Given the description of an element on the screen output the (x, y) to click on. 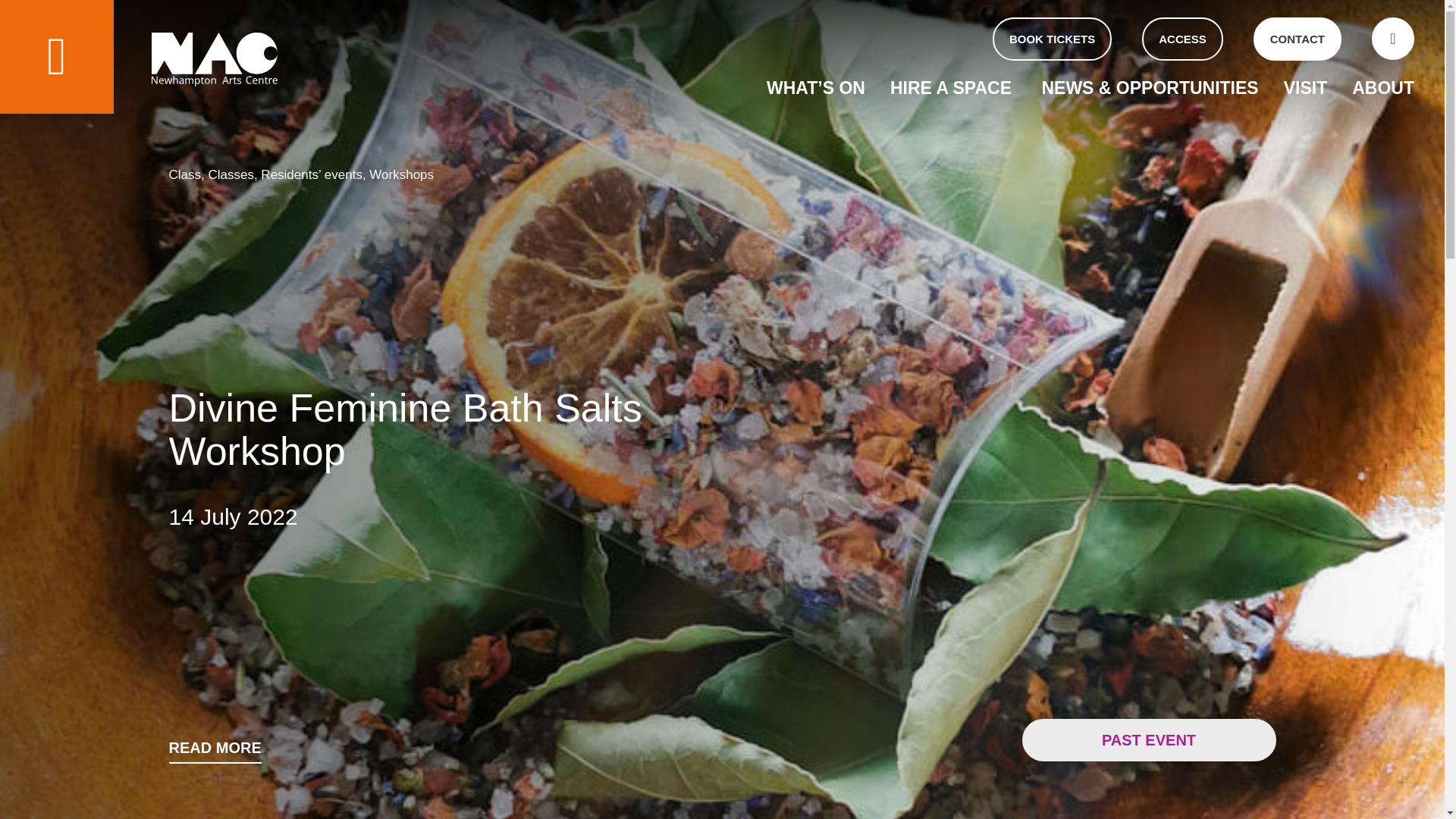
ACCESS (1182, 38)
READ MORE (214, 751)
BOOK TICKETS (1052, 38)
CONTACT (1296, 38)
